Given the description of an element on the screen output the (x, y) to click on. 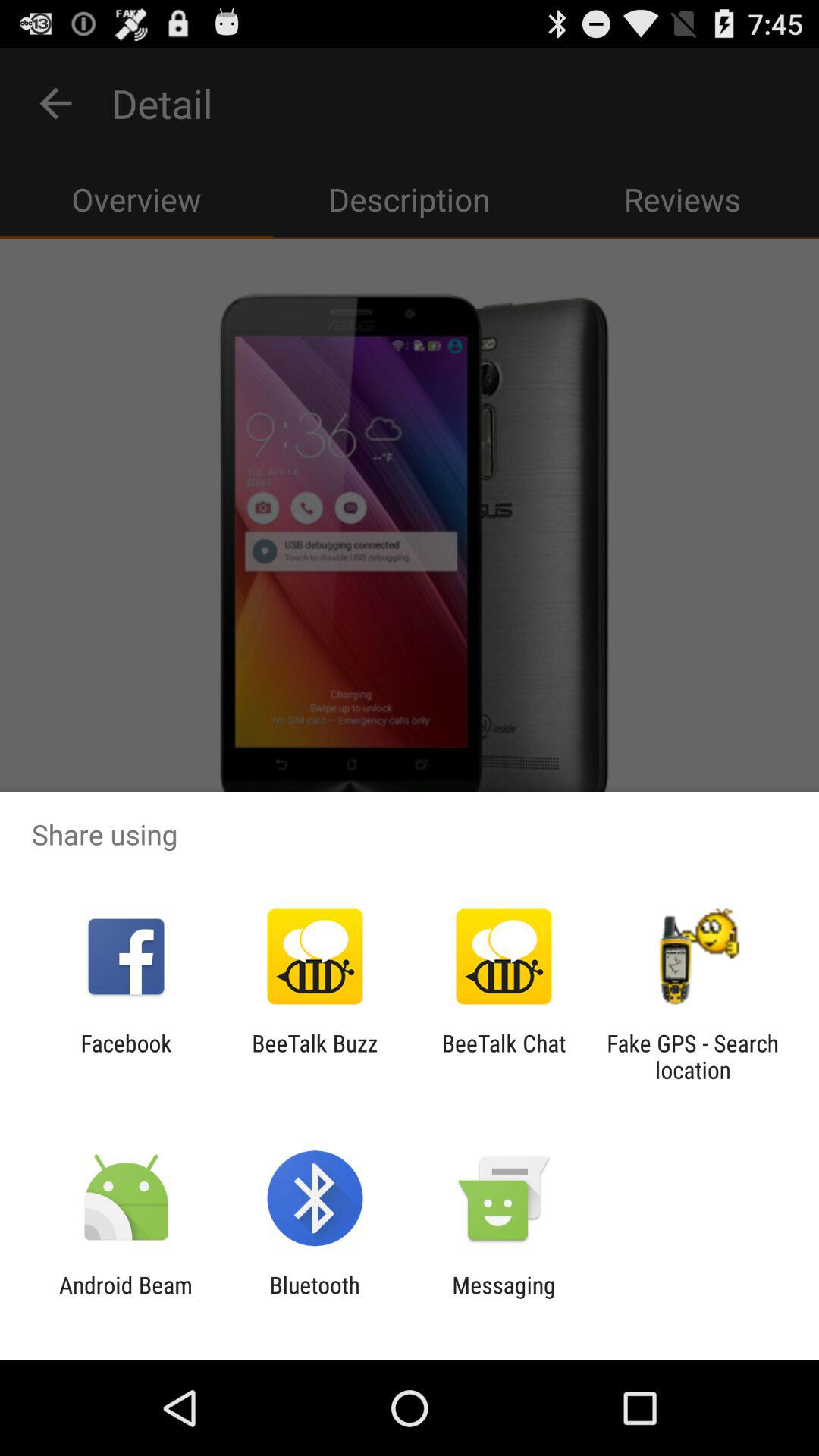
select the fake gps search (692, 1056)
